Given the description of an element on the screen output the (x, y) to click on. 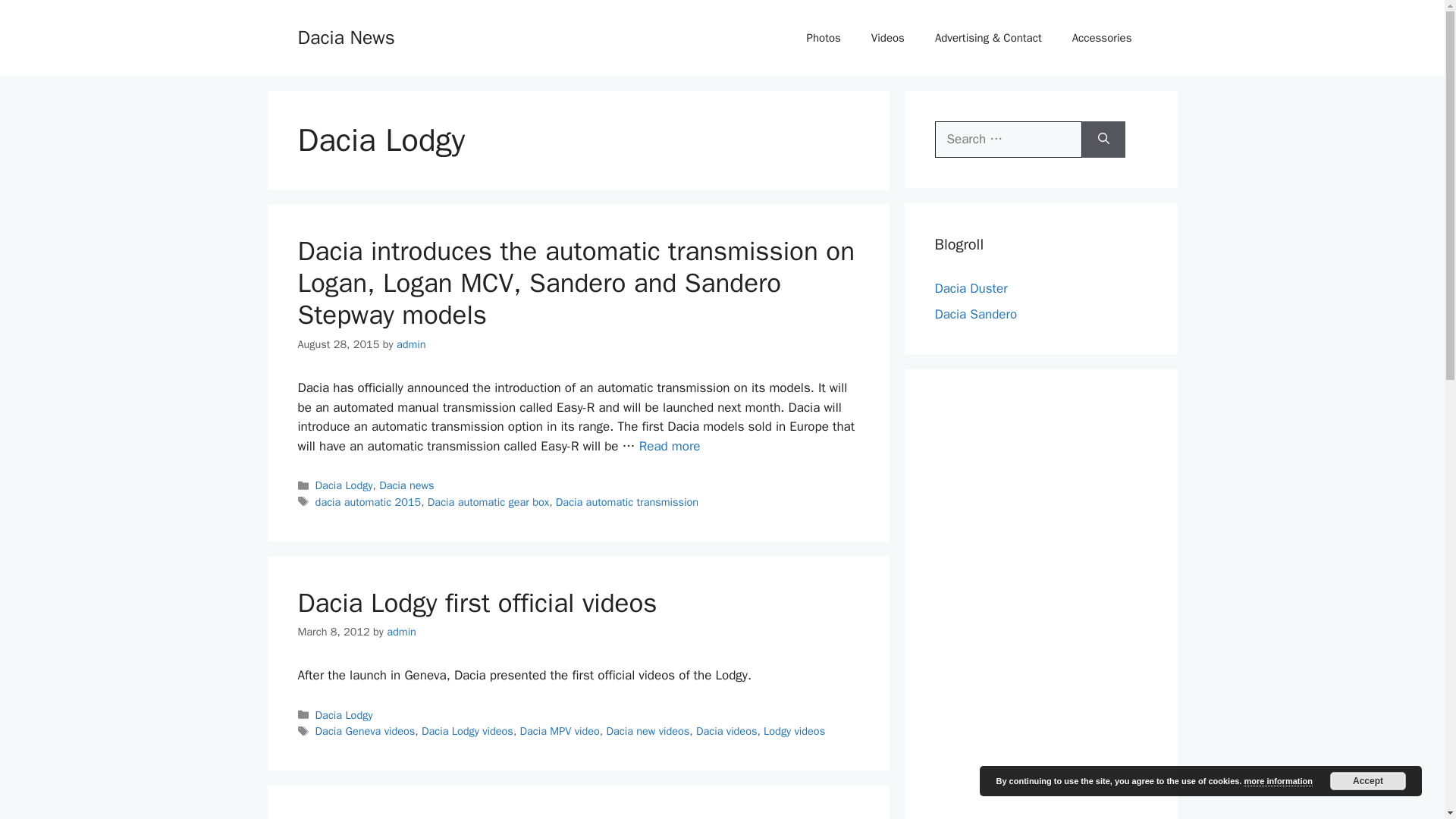
admin (411, 344)
dacia automatic 2015 (368, 501)
Dacia automatic transmission (627, 501)
Read more (669, 446)
Accessories (1102, 37)
Dacia Geneva videos (364, 730)
Lodgy videos (793, 730)
View all posts by admin (401, 631)
admin (401, 631)
Dacia News (345, 37)
View all posts by admin (411, 344)
Photos (824, 37)
Dacia automatic gear box (488, 501)
